Given the description of an element on the screen output the (x, y) to click on. 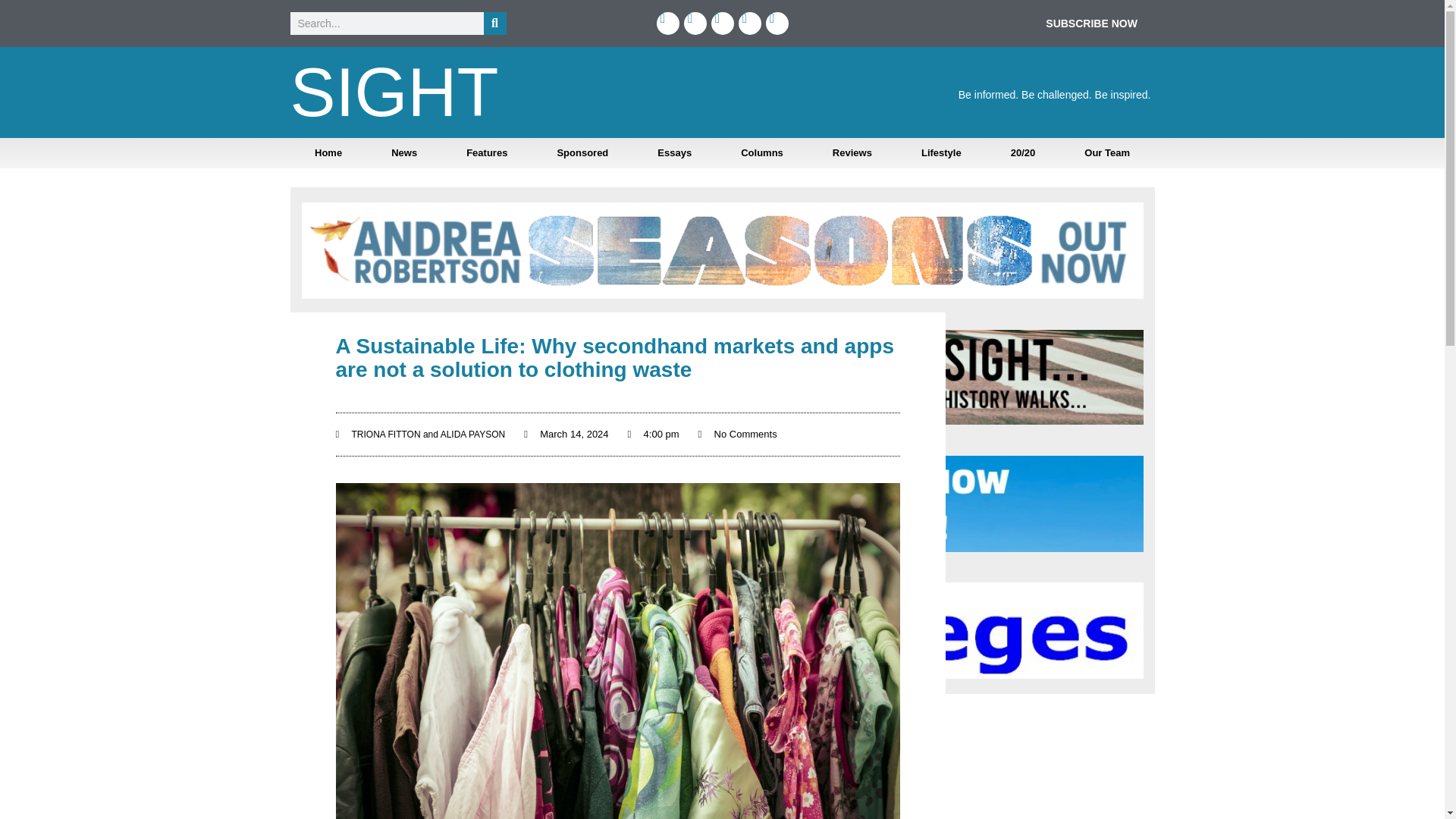
Essays (674, 153)
Home (327, 153)
News (404, 153)
SUBSCRIBE NOW (1091, 23)
Columns (762, 153)
Features (487, 153)
Sponsored (582, 153)
Lifestyle (940, 153)
SIGHT (393, 92)
Reviews (852, 153)
